Given the description of an element on the screen output the (x, y) to click on. 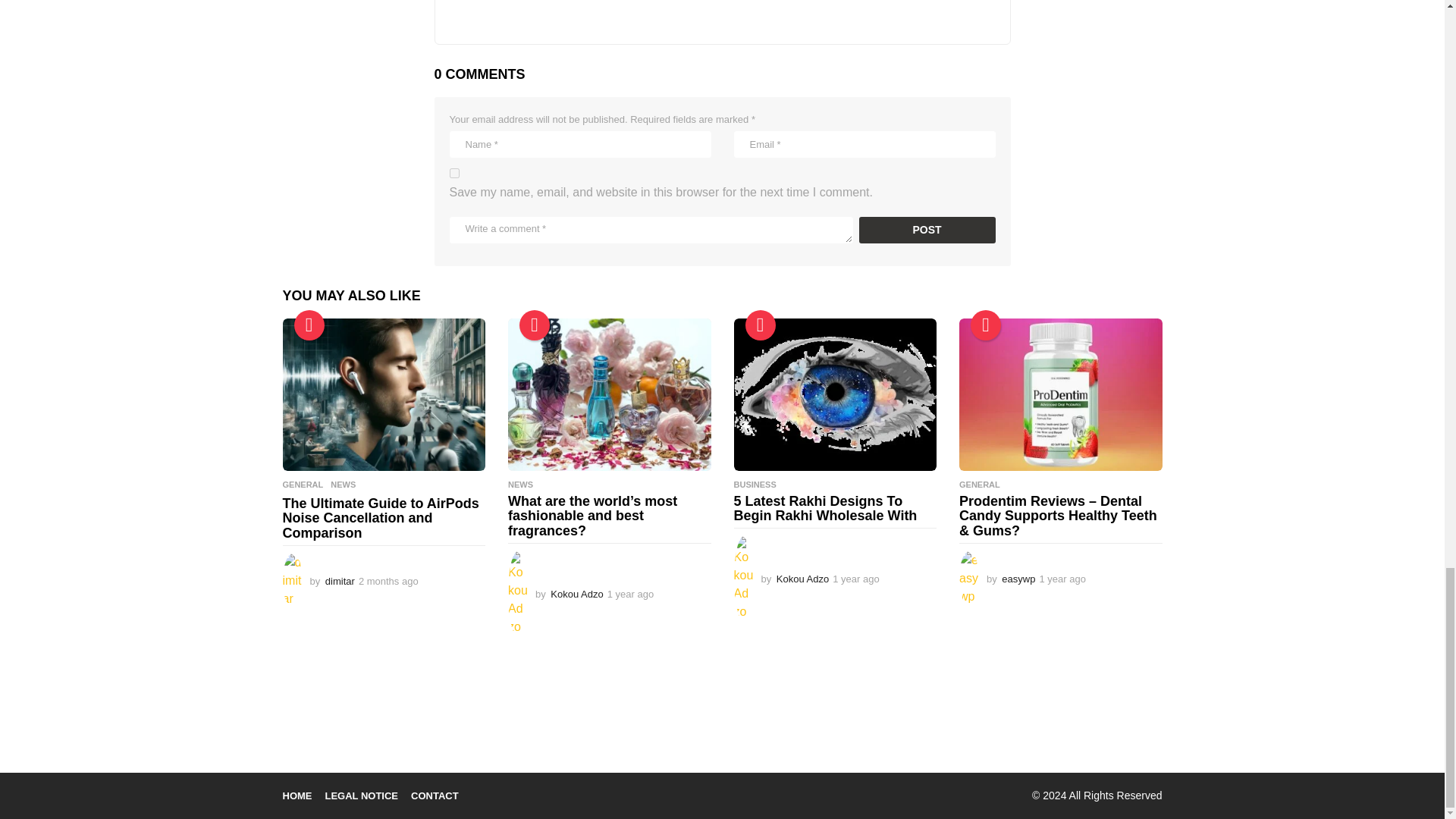
Popular (309, 325)
GENERAL (302, 483)
Post (926, 230)
Post (926, 230)
5 Latest Rakhi Designs To Begin Rakhi Wholesale With (835, 394)
Hot (759, 325)
Popular (534, 325)
NEWS (342, 483)
dimitar (339, 581)
yes (453, 173)
